Given the description of an element on the screen output the (x, y) to click on. 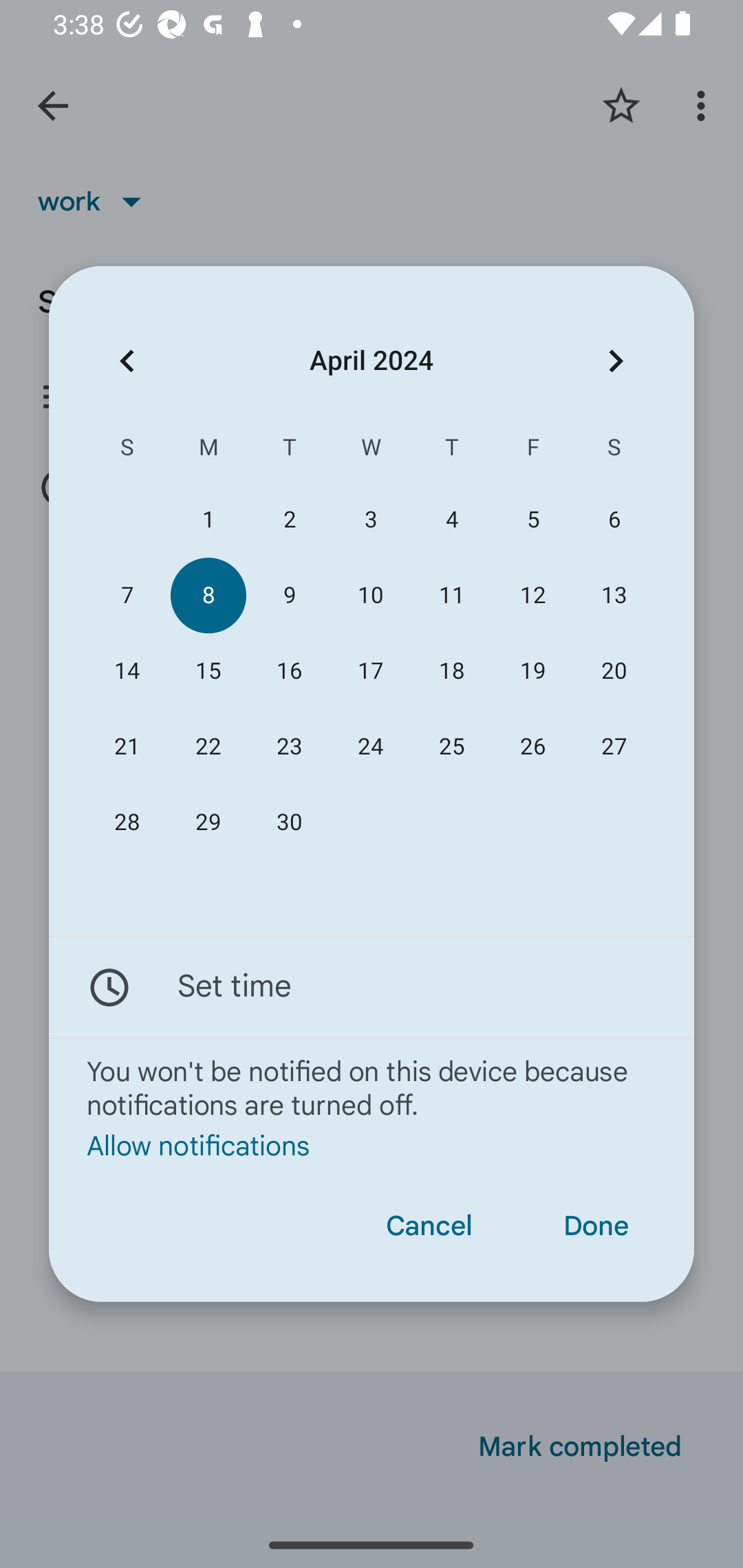
Previous month (126, 360)
Next month (615, 360)
1 01 April 2024 (207, 519)
2 02 April 2024 (288, 519)
3 03 April 2024 (370, 519)
4 04 April 2024 (451, 519)
5 05 April 2024 (532, 519)
6 06 April 2024 (613, 519)
7 07 April 2024 (126, 595)
8 08 April 2024 (207, 595)
9 09 April 2024 (288, 595)
10 10 April 2024 (370, 595)
11 11 April 2024 (451, 595)
12 12 April 2024 (532, 595)
13 13 April 2024 (613, 595)
14 14 April 2024 (126, 670)
15 15 April 2024 (207, 670)
16 16 April 2024 (288, 670)
17 17 April 2024 (370, 670)
18 18 April 2024 (451, 670)
19 19 April 2024 (532, 670)
20 20 April 2024 (613, 670)
21 21 April 2024 (126, 746)
22 22 April 2024 (207, 746)
23 23 April 2024 (288, 746)
24 24 April 2024 (370, 746)
25 25 April 2024 (451, 746)
26 26 April 2024 (532, 746)
27 27 April 2024 (613, 746)
28 28 April 2024 (126, 822)
29 29 April 2024 (207, 822)
30 30 April 2024 (288, 822)
Set time (371, 986)
Allow notifications (371, 1145)
Cancel (429, 1225)
Done (595, 1225)
